Given the description of an element on the screen output the (x, y) to click on. 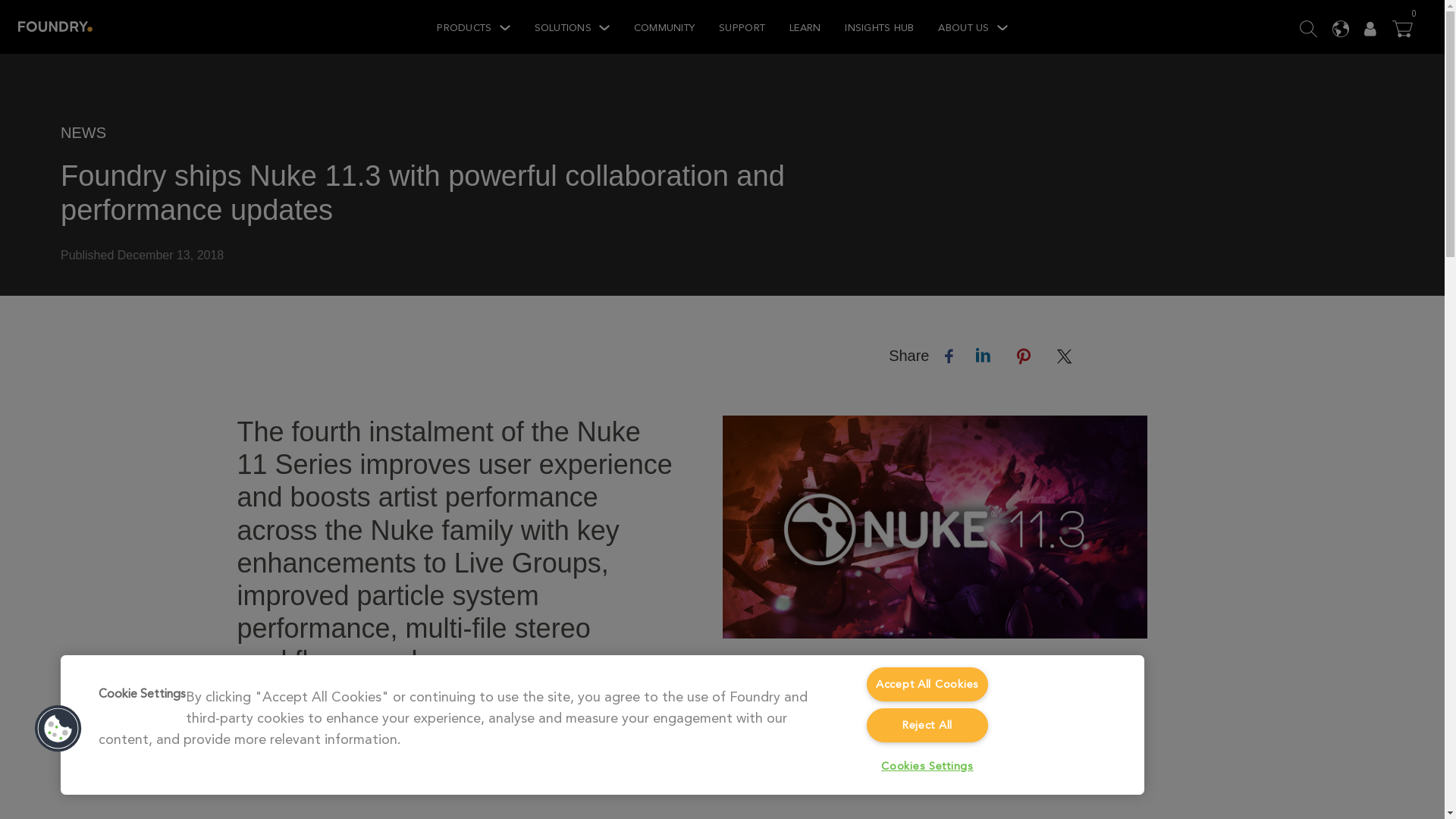
Home (55, 26)
SUPPORT (742, 27)
ABOUT US (972, 27)
Cookies Button (57, 728)
PRODUCTS (472, 27)
INSIGHTS HUB (879, 27)
LEARN (805, 27)
COMMUNITY (663, 27)
SOLUTIONS (572, 27)
